Given the description of an element on the screen output the (x, y) to click on. 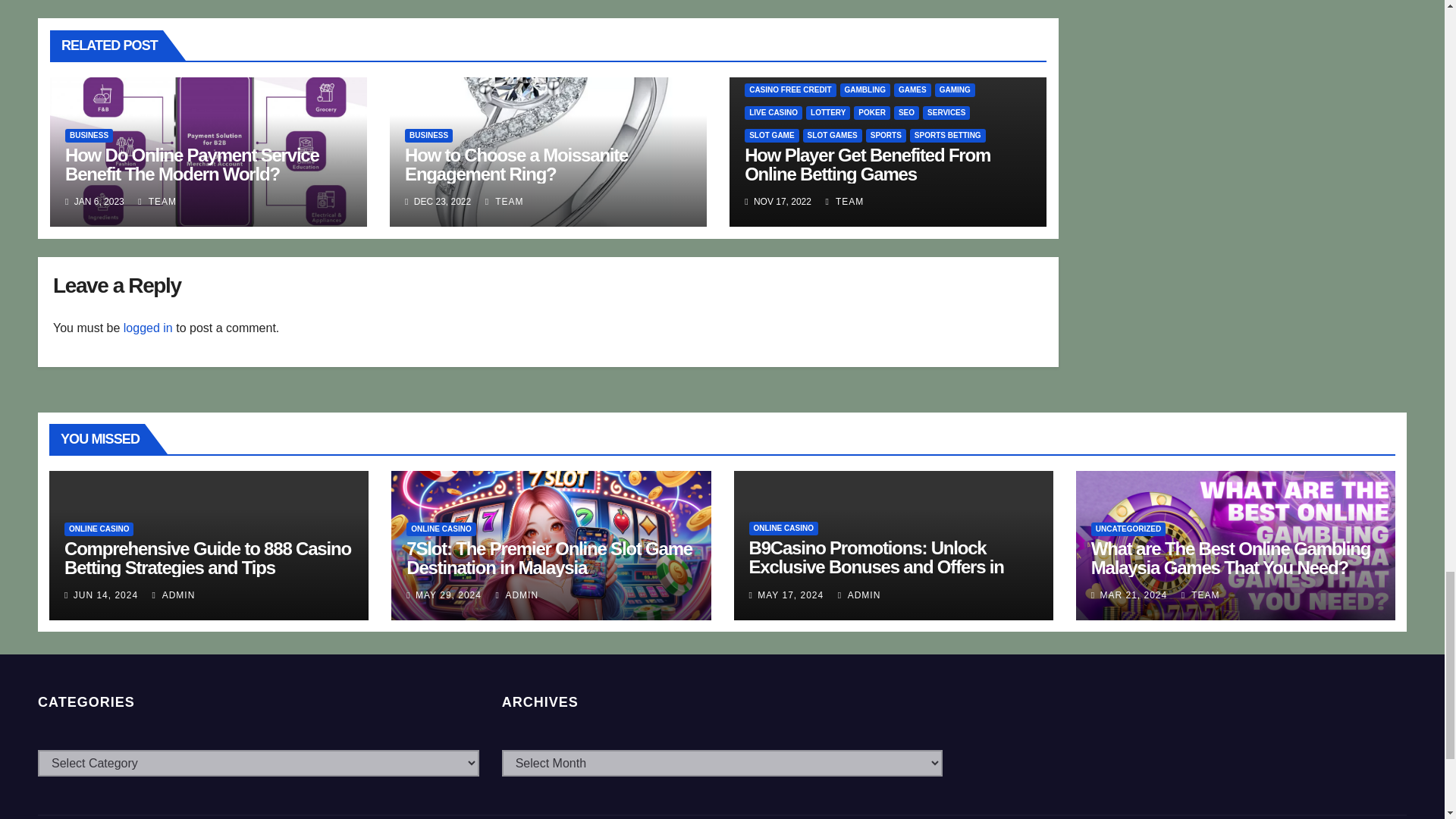
Permalink to: How to Choose a Moissanite Engagement Ring? (515, 164)
TEAM (157, 201)
BUSINESS (89, 135)
How Do Online Payment Service Benefit The Modern World? (191, 164)
BUSINESS (428, 135)
How to Choose a Moissanite Engagement Ring? (515, 164)
